Given the description of an element on the screen output the (x, y) to click on. 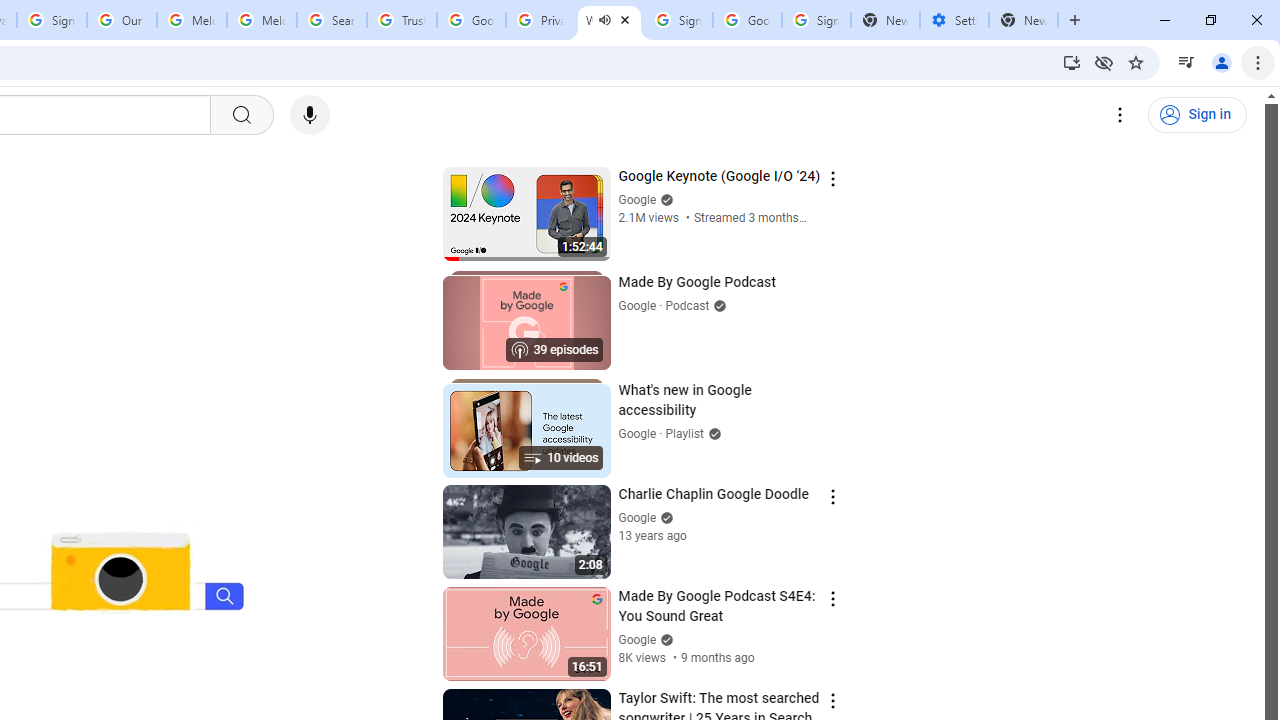
Search our Doodle Library Collection - Google Doodles (332, 20)
